Given the description of an element on the screen output the (x, y) to click on. 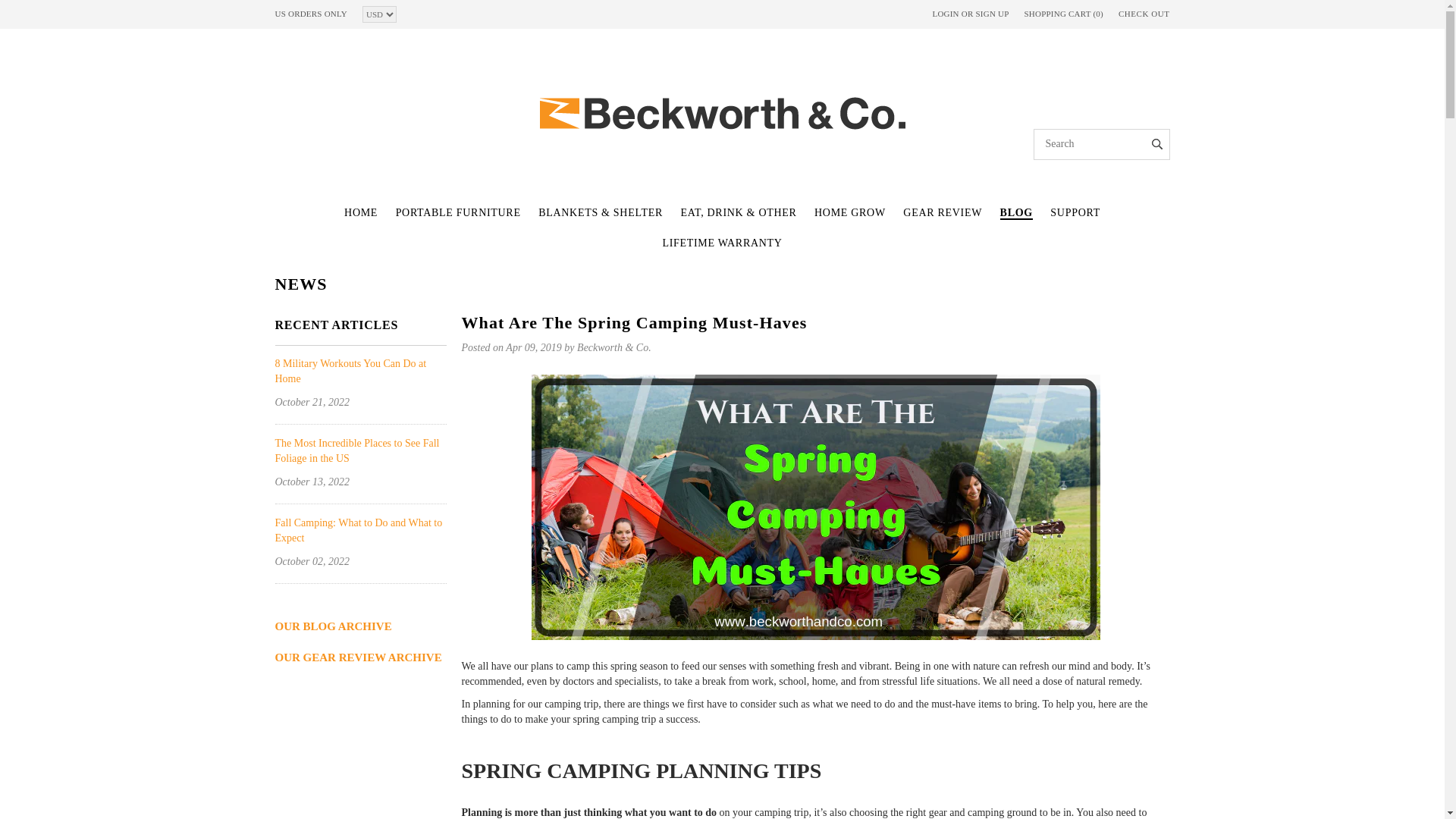
HOME GROW (849, 212)
CHECK OUT (1144, 14)
LOGIN (944, 13)
GEAR REVIEW (941, 212)
PORTABLE FURNITURE (458, 212)
SIGN UP (992, 13)
Search (1158, 139)
Search (1158, 139)
HOME (360, 212)
